Given the description of an element on the screen output the (x, y) to click on. 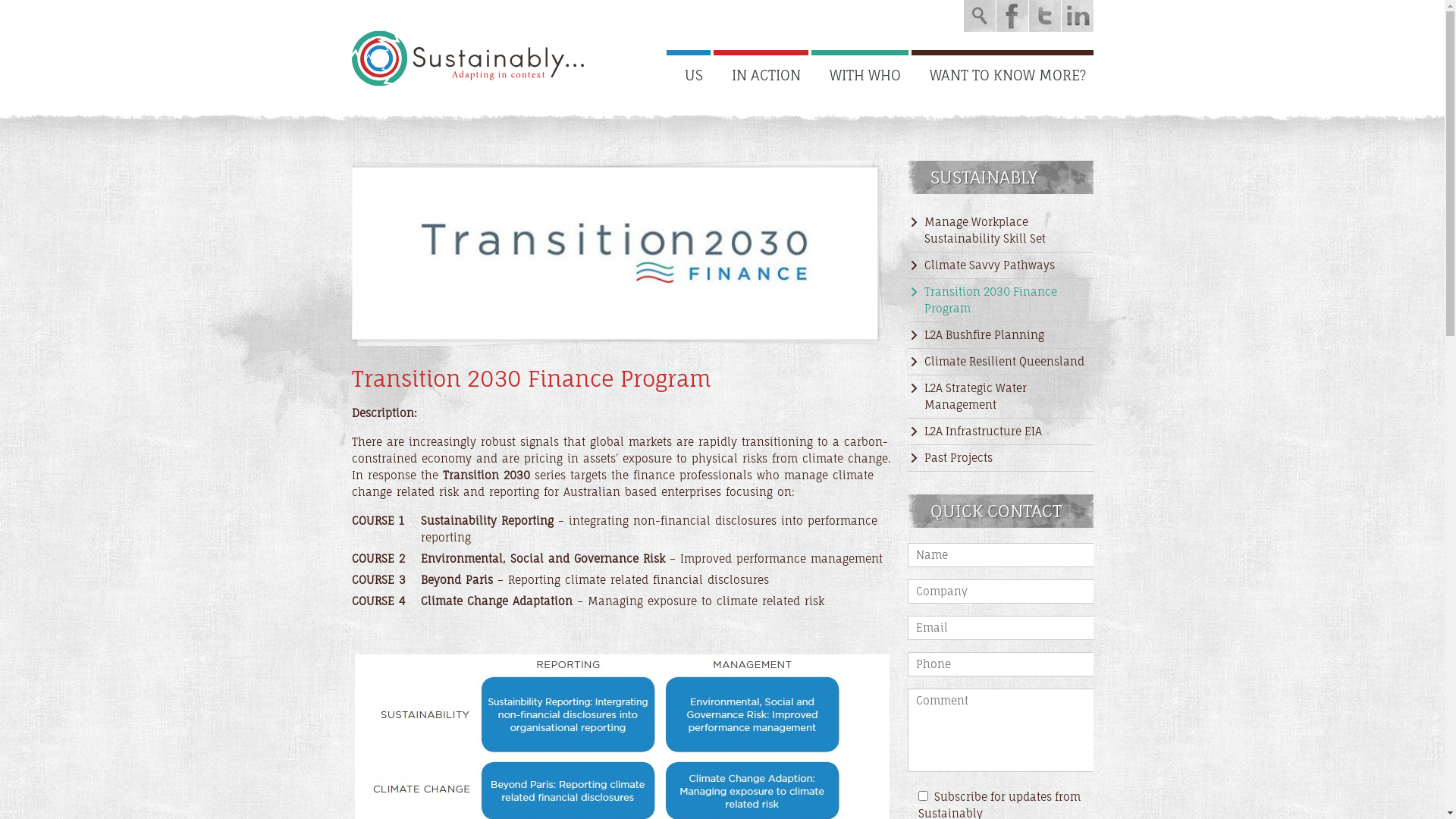
Climate Savvy Pathways Element type: text (1000, 265)
L2A Strategic Water Management Element type: text (1000, 396)
Search Element type: text (978, 15)
WANT TO KNOW MORE? Element type: text (1002, 70)
Adapting in context Element type: text (467, 58)
L2A Infrastructure EIA Element type: text (1000, 431)
WITH WHO Element type: text (859, 70)
Climate Resilient Queensland Element type: text (1000, 361)
US Element type: text (687, 70)
Past Projects Element type: text (1000, 457)
Manage Workplace Sustainability Skill Set Element type: text (1000, 230)
L2A Bushfire Planning Element type: text (1000, 335)
Facebook Element type: text (1012, 15)
Transition 2030 Finance Program Element type: text (1000, 300)
Twitter Element type: text (1044, 15)
IN ACTION Element type: text (759, 70)
LinkedIn Element type: text (1077, 15)
